Given the description of an element on the screen output the (x, y) to click on. 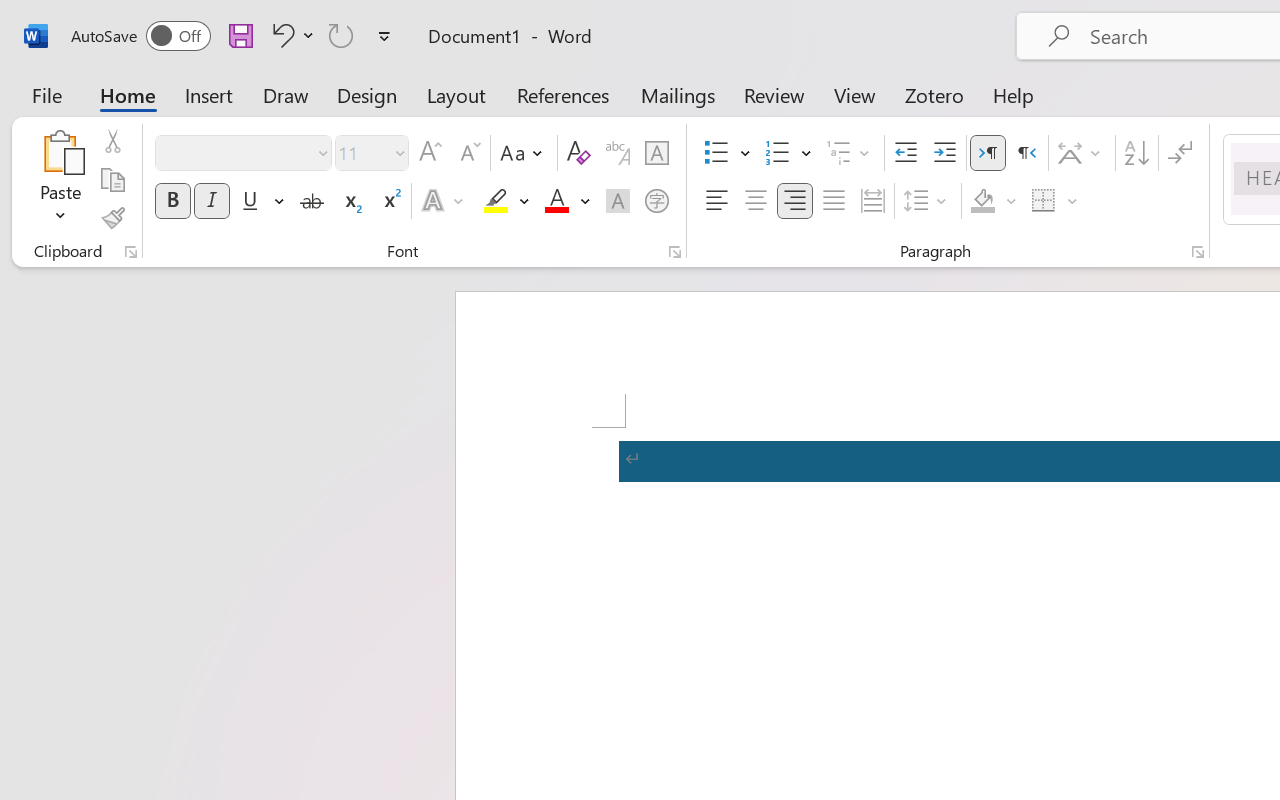
Shading No Color (982, 201)
Left-to-Right (988, 153)
Undo (280, 35)
